Given the description of an element on the screen output the (x, y) to click on. 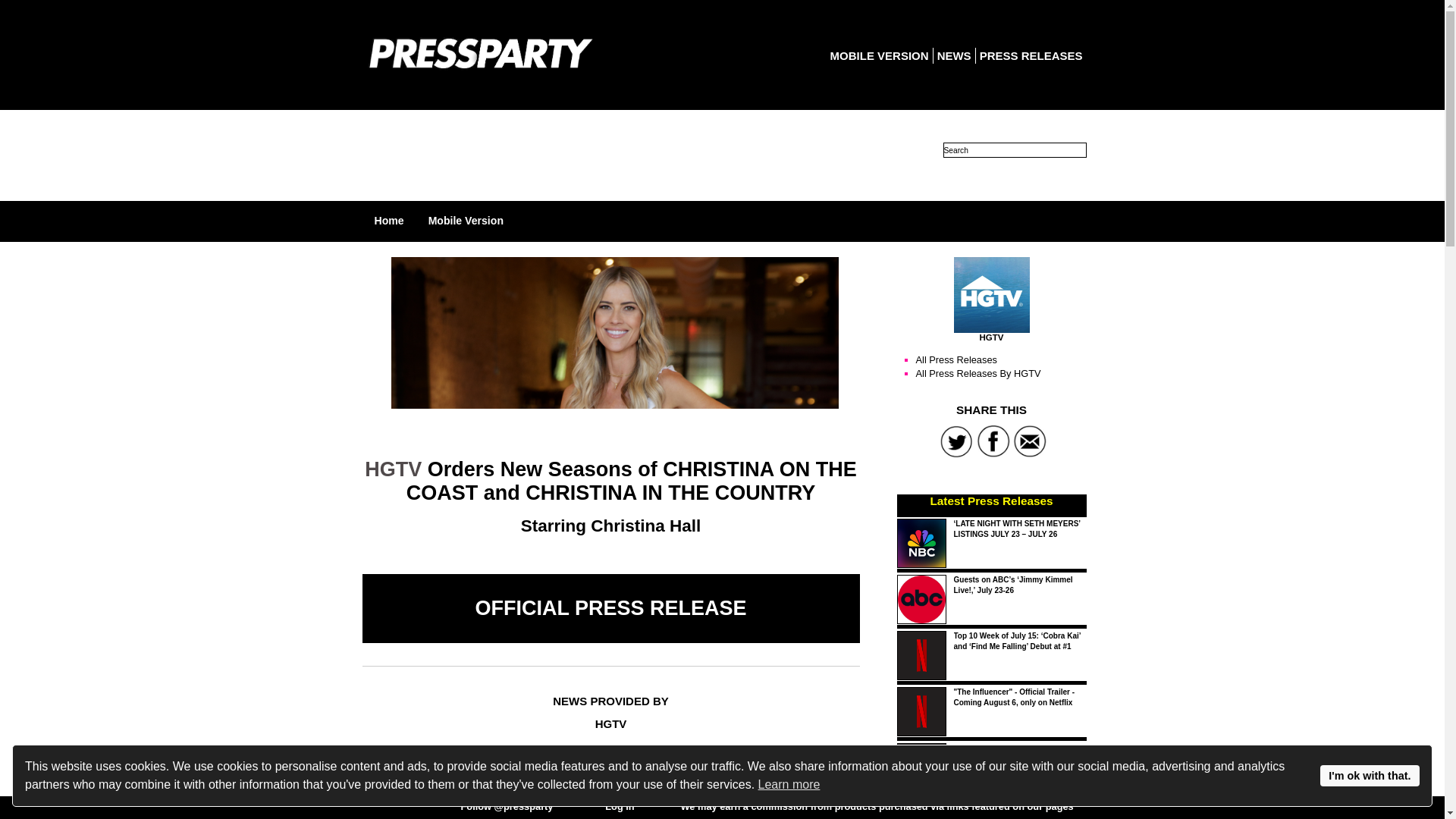
All Press Releases (956, 359)
HGTV (393, 468)
PRESS RELEASES (1031, 55)
All Press Releases By HGTV (978, 373)
Mobile Version (465, 220)
Learn more (789, 784)
I'm ok with that. (1369, 775)
MOBILE VERSION (878, 55)
Home (389, 220)
Search (1014, 150)
HGTV (379, 801)
NEWS (954, 55)
HGTV (991, 294)
Search (1014, 150)
